Given the description of an element on the screen output the (x, y) to click on. 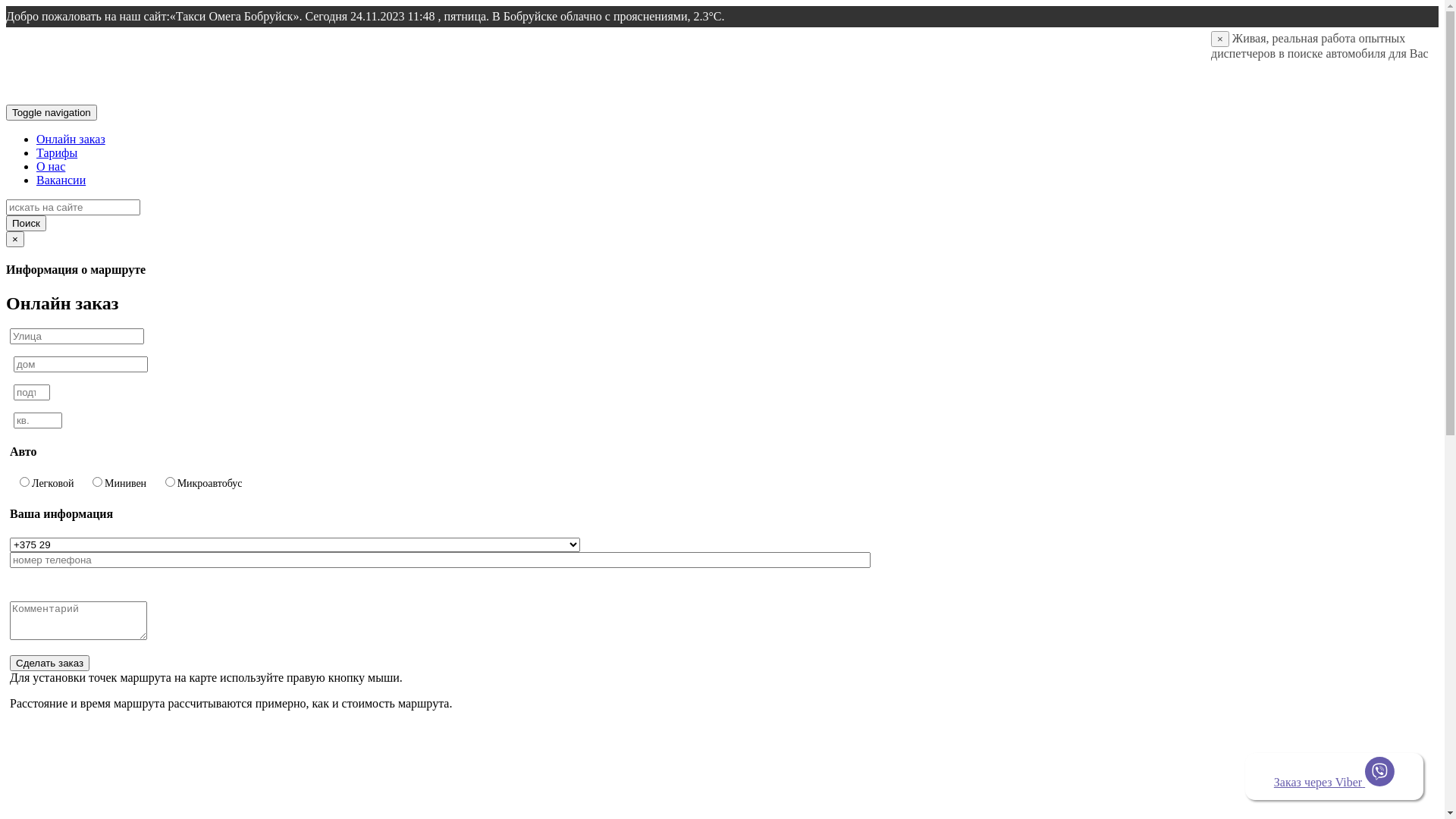
Toggle navigation Element type: text (51, 112)
